Given the description of an element on the screen output the (x, y) to click on. 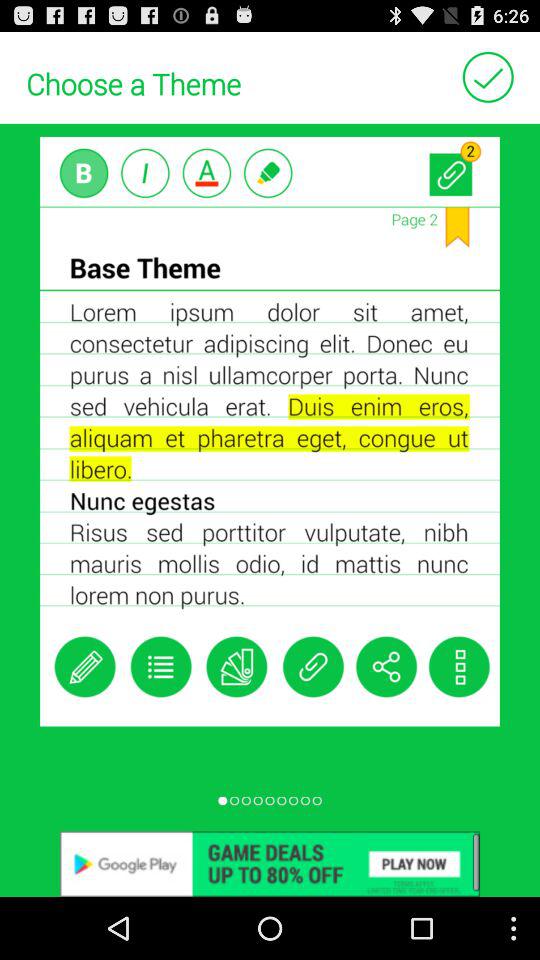
select theme (487, 76)
